Given the description of an element on the screen output the (x, y) to click on. 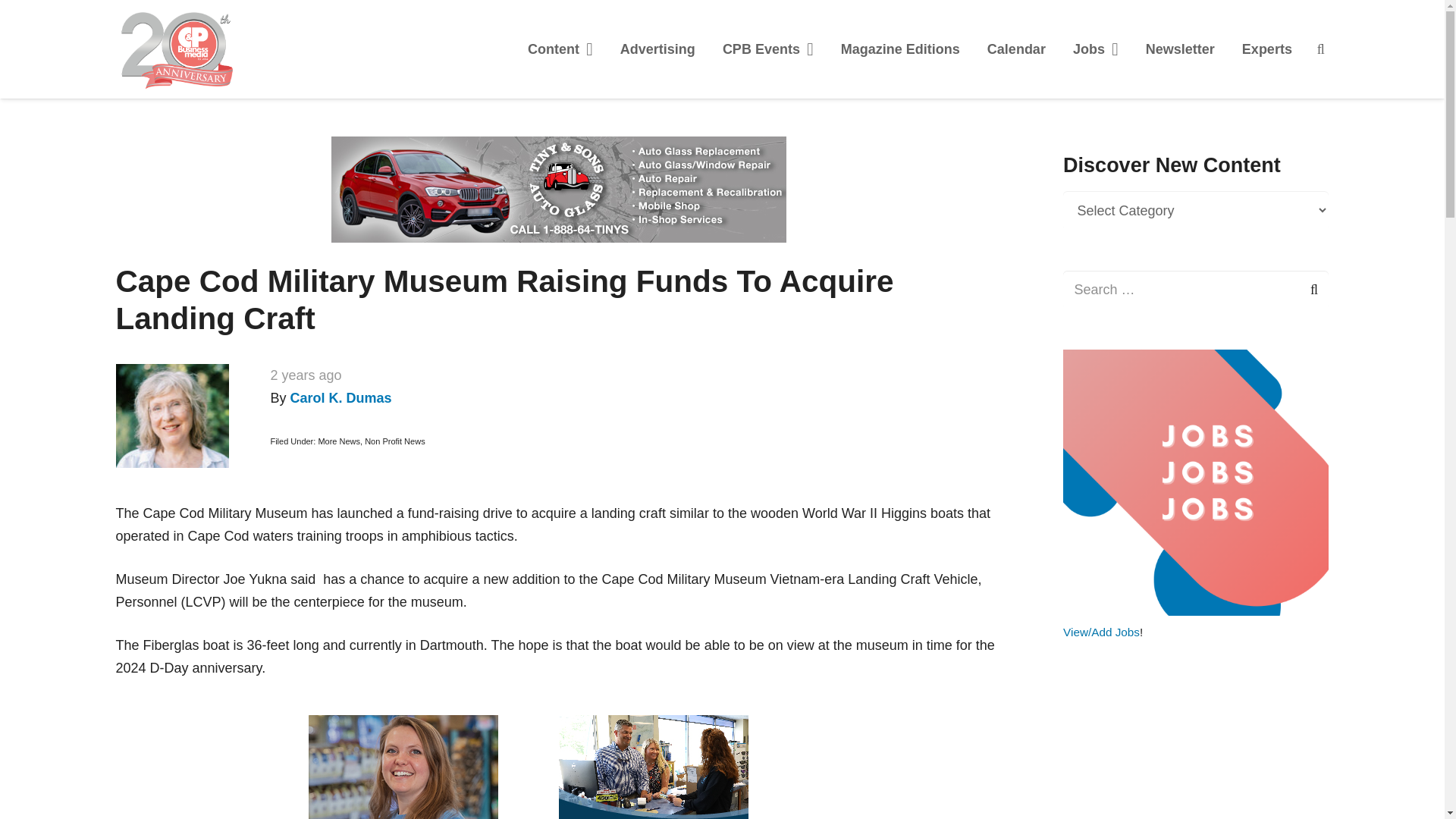
CPB Events (768, 48)
Experts (1267, 48)
Advertising (658, 48)
Jobs (1095, 48)
Calendar (1016, 48)
Magazine Editions (900, 48)
Content (560, 48)
Newsletter (1180, 48)
